Given the description of an element on the screen output the (x, y) to click on. 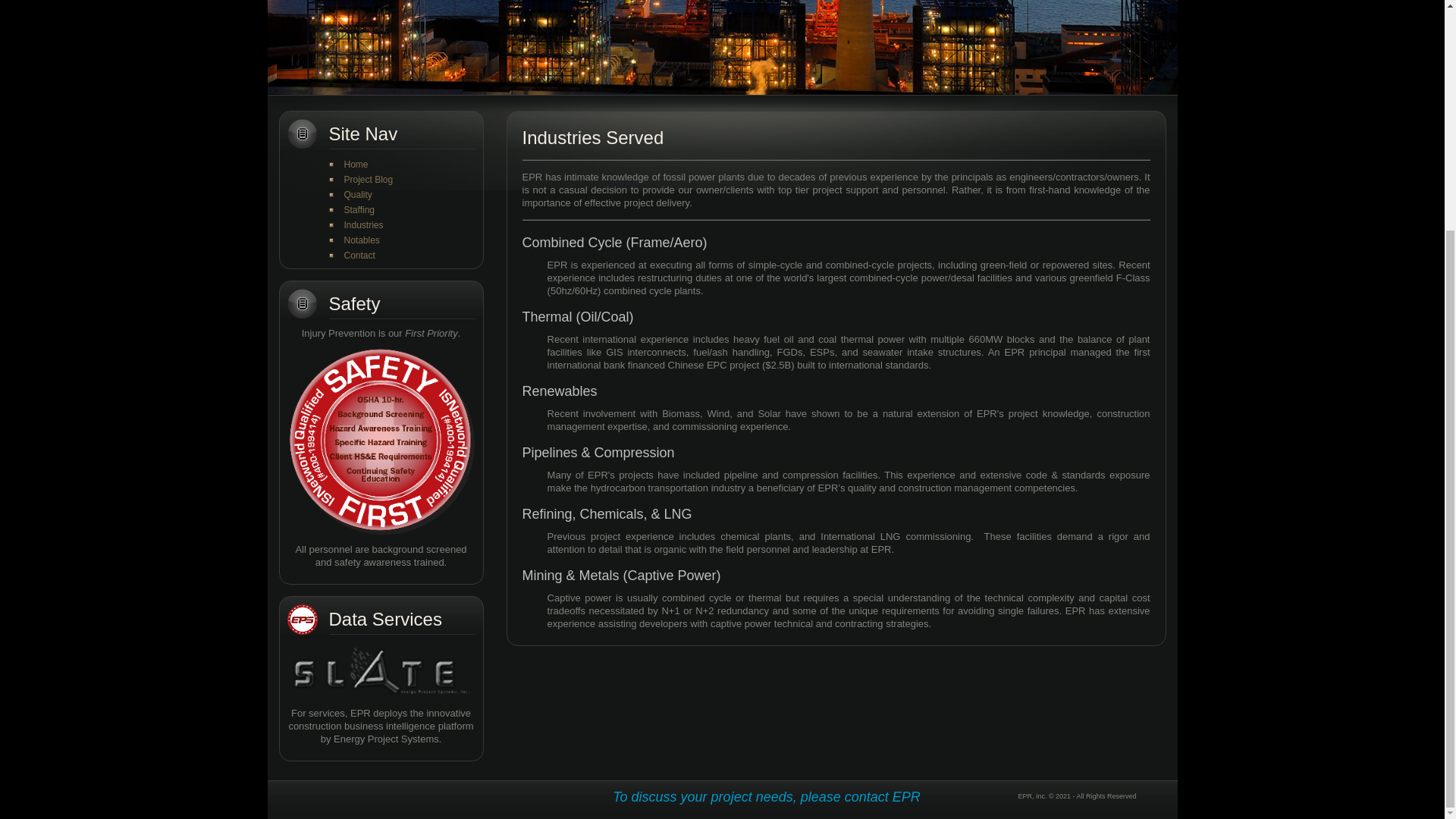
Staffing (358, 209)
Home (355, 163)
Project Blog (368, 179)
Contact (359, 255)
Industries (363, 225)
To discuss your project needs, please contact EPR (766, 796)
Notables (361, 240)
Quality (357, 194)
Pause (282, 83)
